Given the description of an element on the screen output the (x, y) to click on. 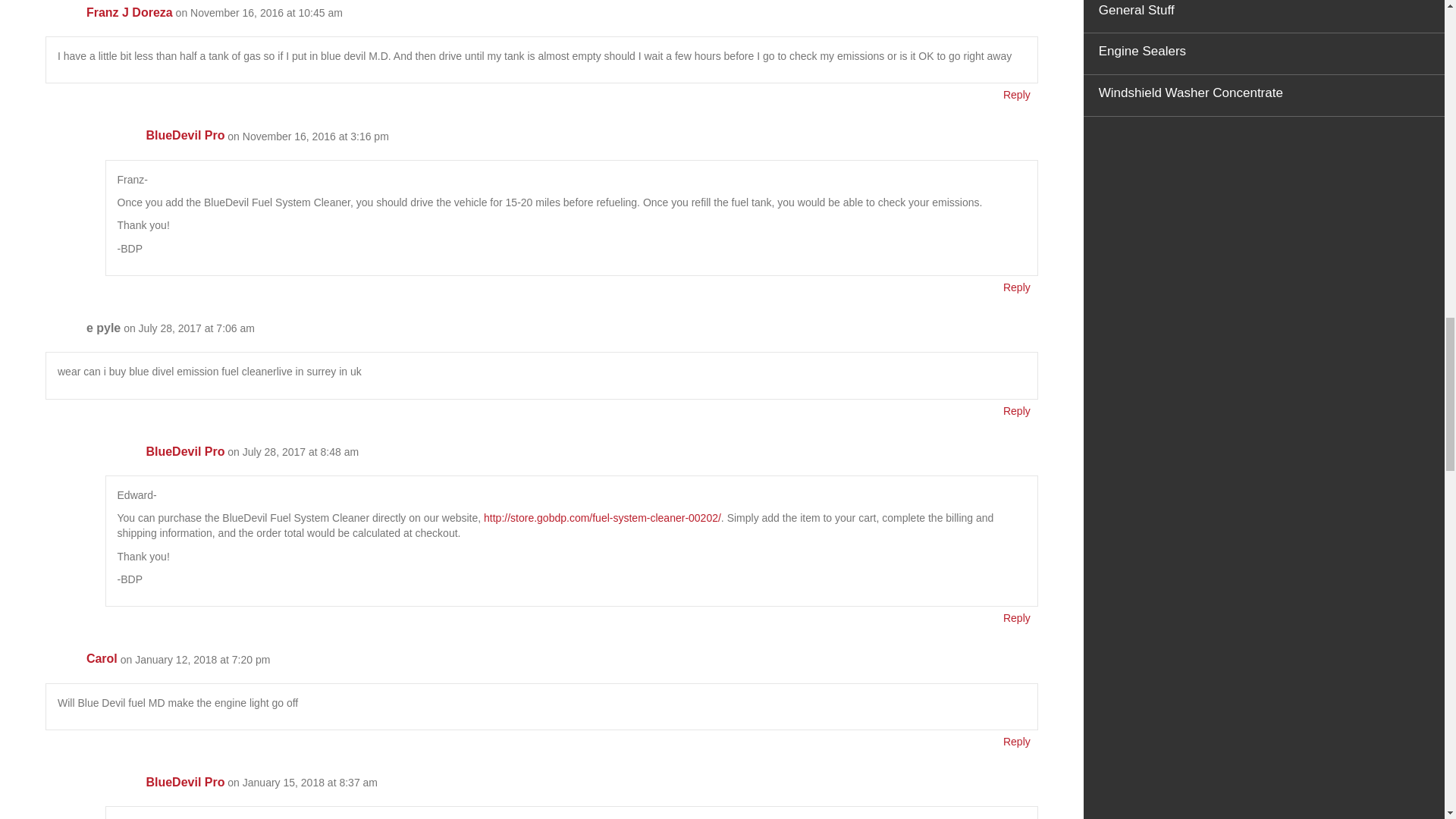
Franz J Doreza (129, 11)
